Given the description of an element on the screen output the (x, y) to click on. 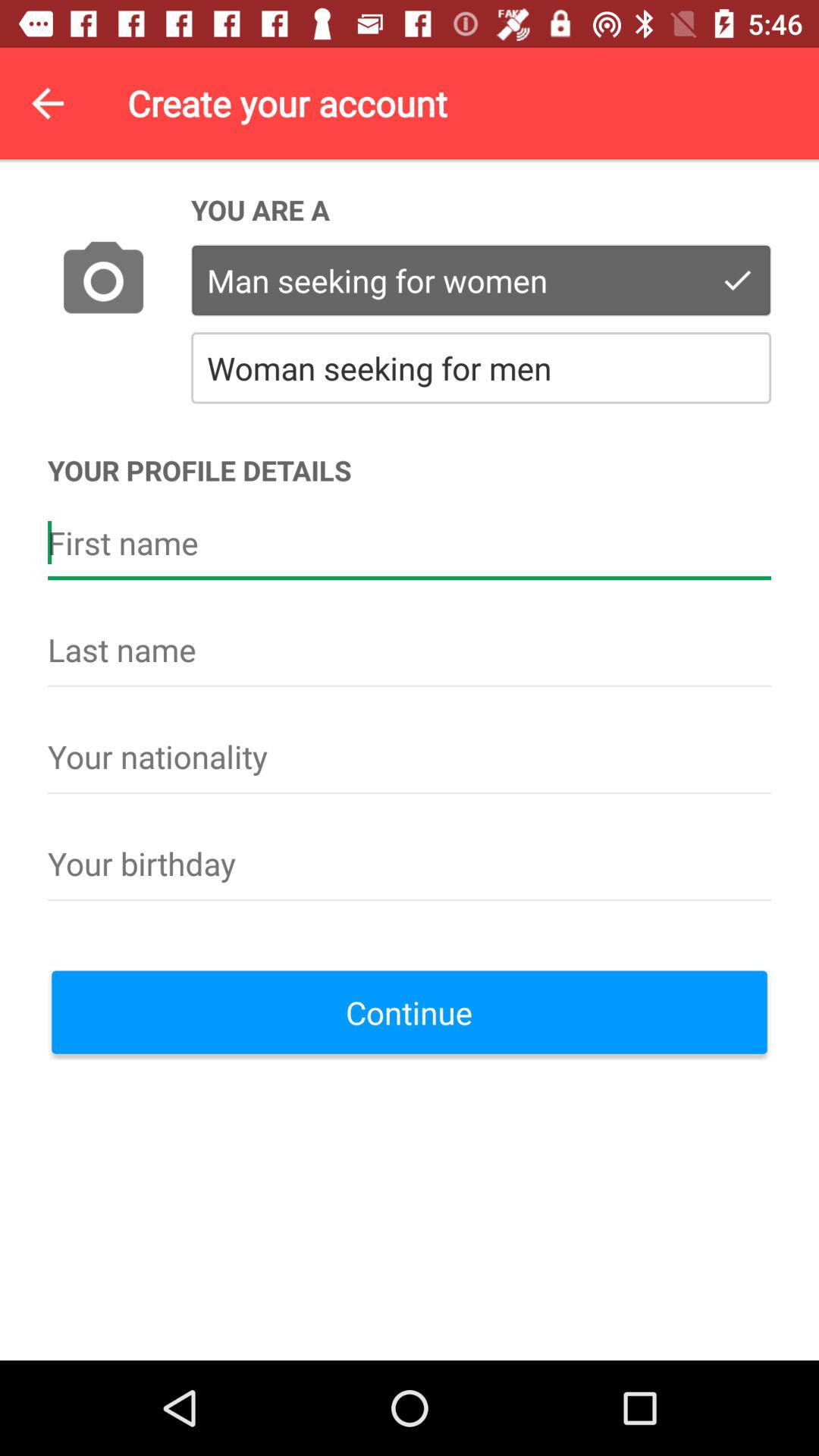
launch the icon to the left of the you are a icon (103, 281)
